Given the description of an element on the screen output the (x, y) to click on. 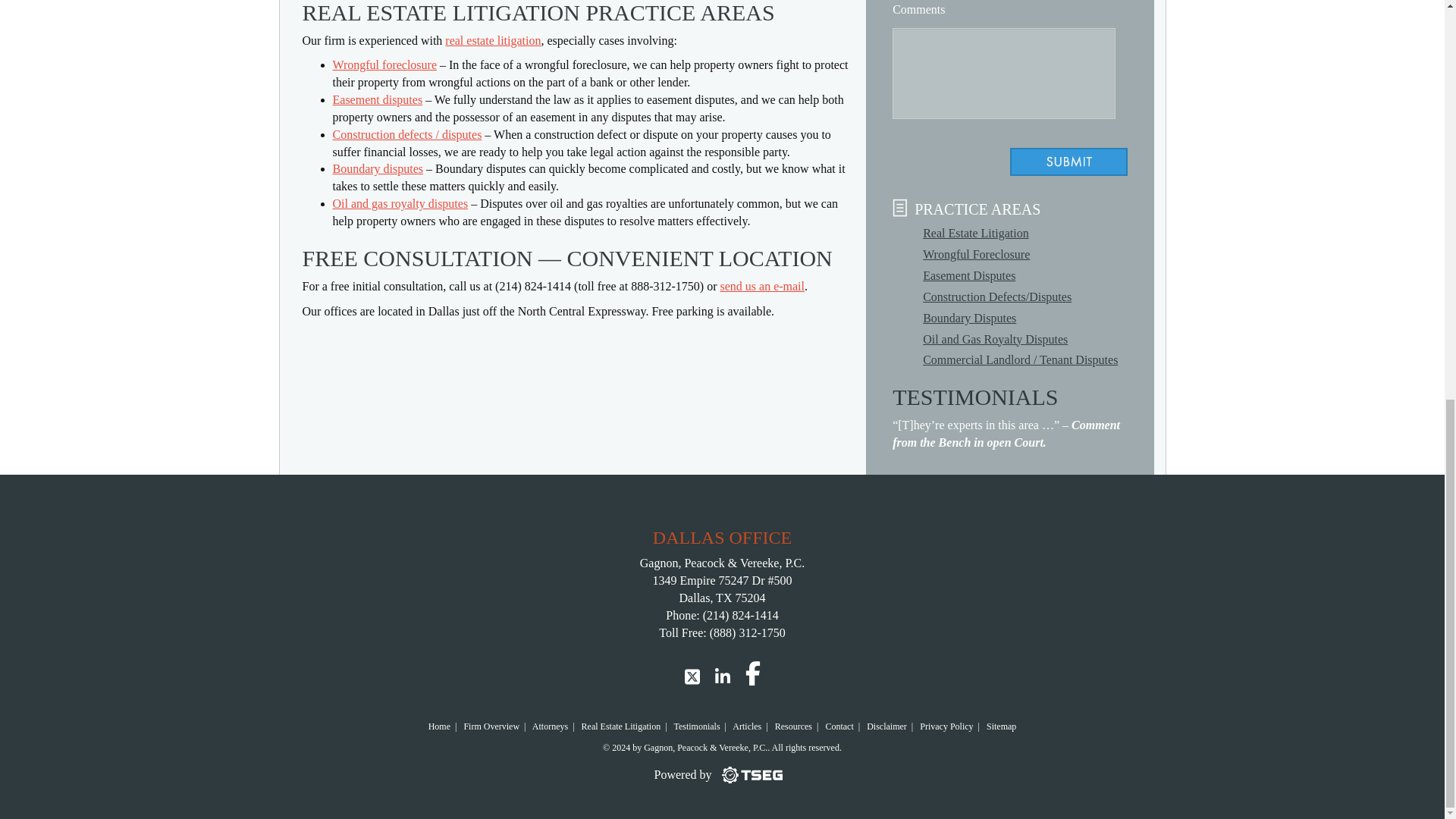
Easement disputes (376, 99)
Wrongful Foreclosure (976, 254)
real estate litigation (492, 40)
Boundary Disputes (969, 318)
Oil and Gas Royalty Disputes (995, 338)
Boundary disputes (377, 168)
Oil and gas royalty disputes (399, 203)
Real Estate Litigation (976, 232)
send us an e-mail (762, 286)
Easement Disputes (968, 275)
